Given the description of an element on the screen output the (x, y) to click on. 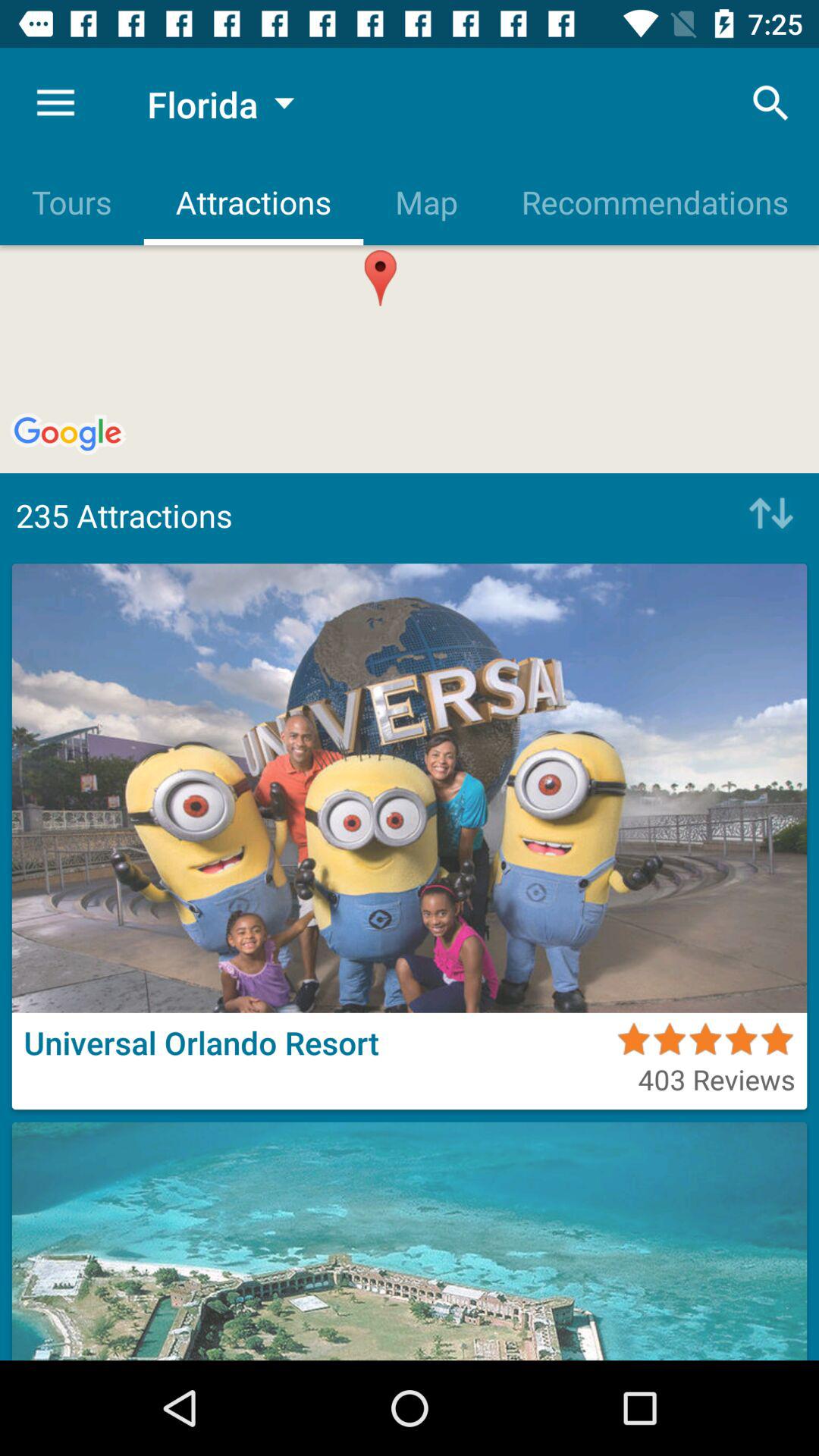
open the icon next to the florida item (55, 103)
